Given the description of an element on the screen output the (x, y) to click on. 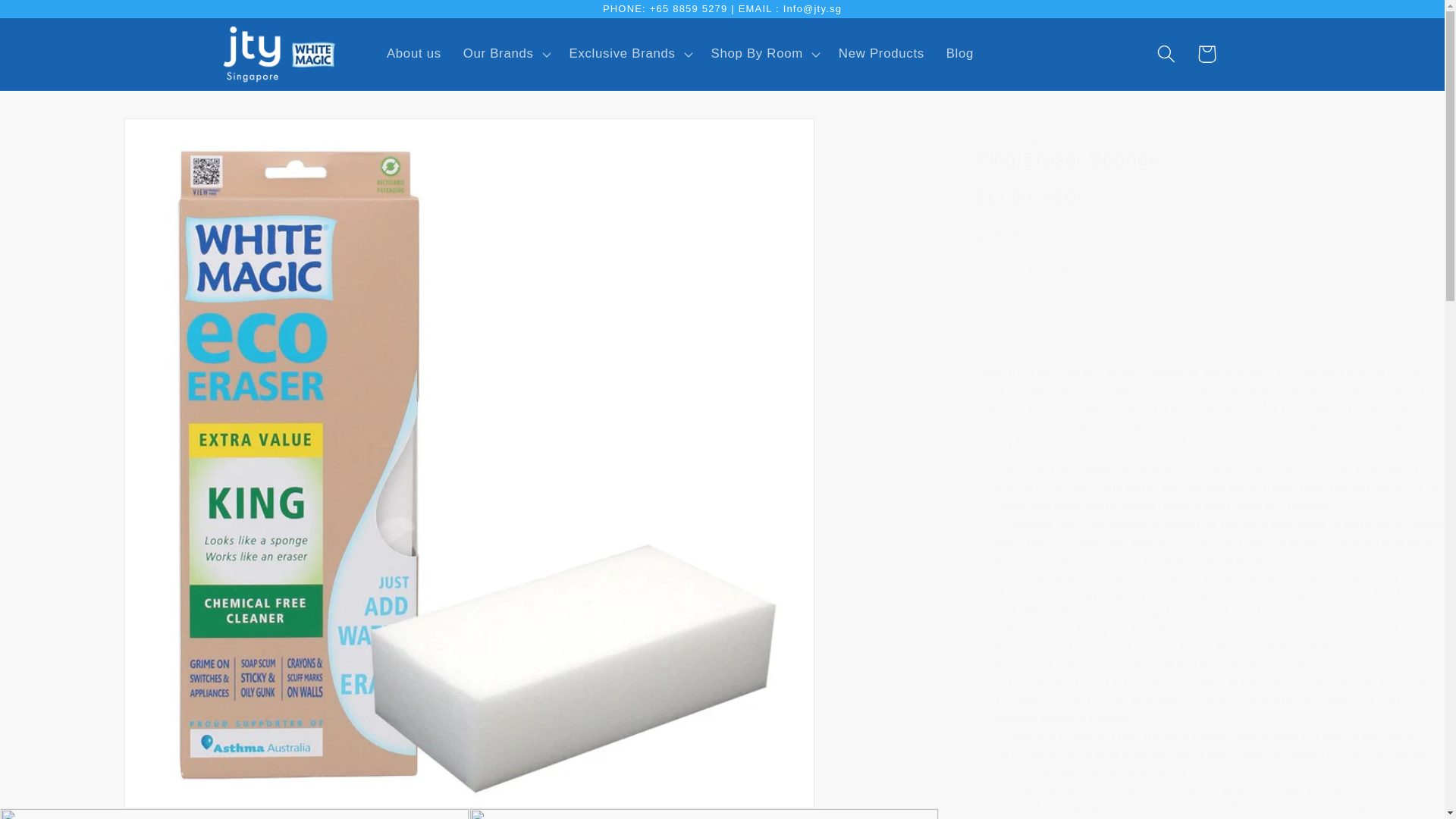
About us (413, 53)
1 (1029, 270)
Open media 3 in modal (703, 813)
Skip to content (55, 20)
Open media 2 in modal (234, 813)
